Given the description of an element on the screen output the (x, y) to click on. 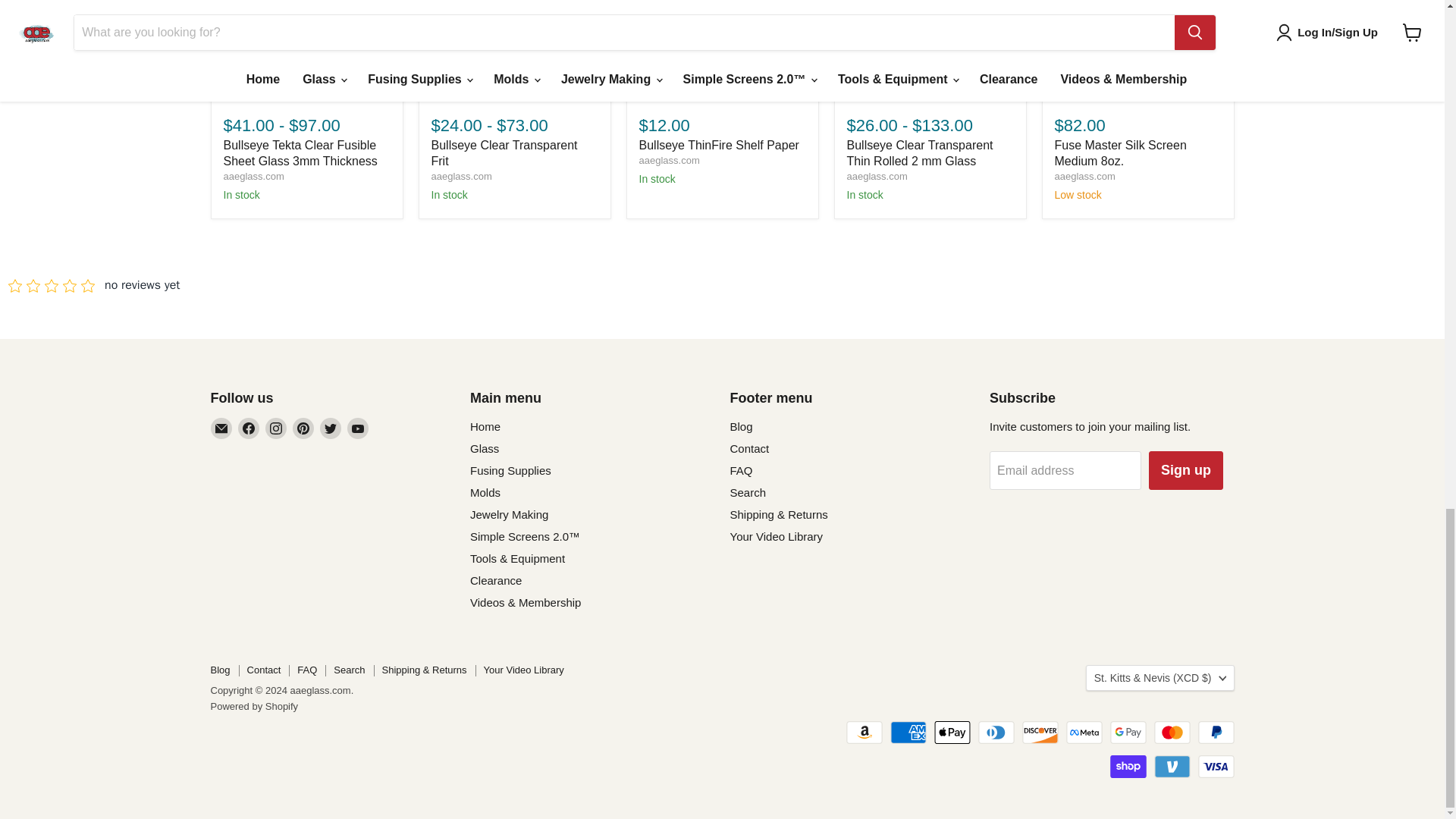
Twitter (330, 427)
aaeglass.com (252, 175)
aaeglass.com (1084, 175)
aaeglass.com (668, 160)
aaeglass.com (876, 175)
aaeglass.com (461, 175)
YouTube (357, 427)
Instagram (275, 427)
Facebook (248, 427)
Pinterest (303, 427)
Email (221, 427)
